Given the description of an element on the screen output the (x, y) to click on. 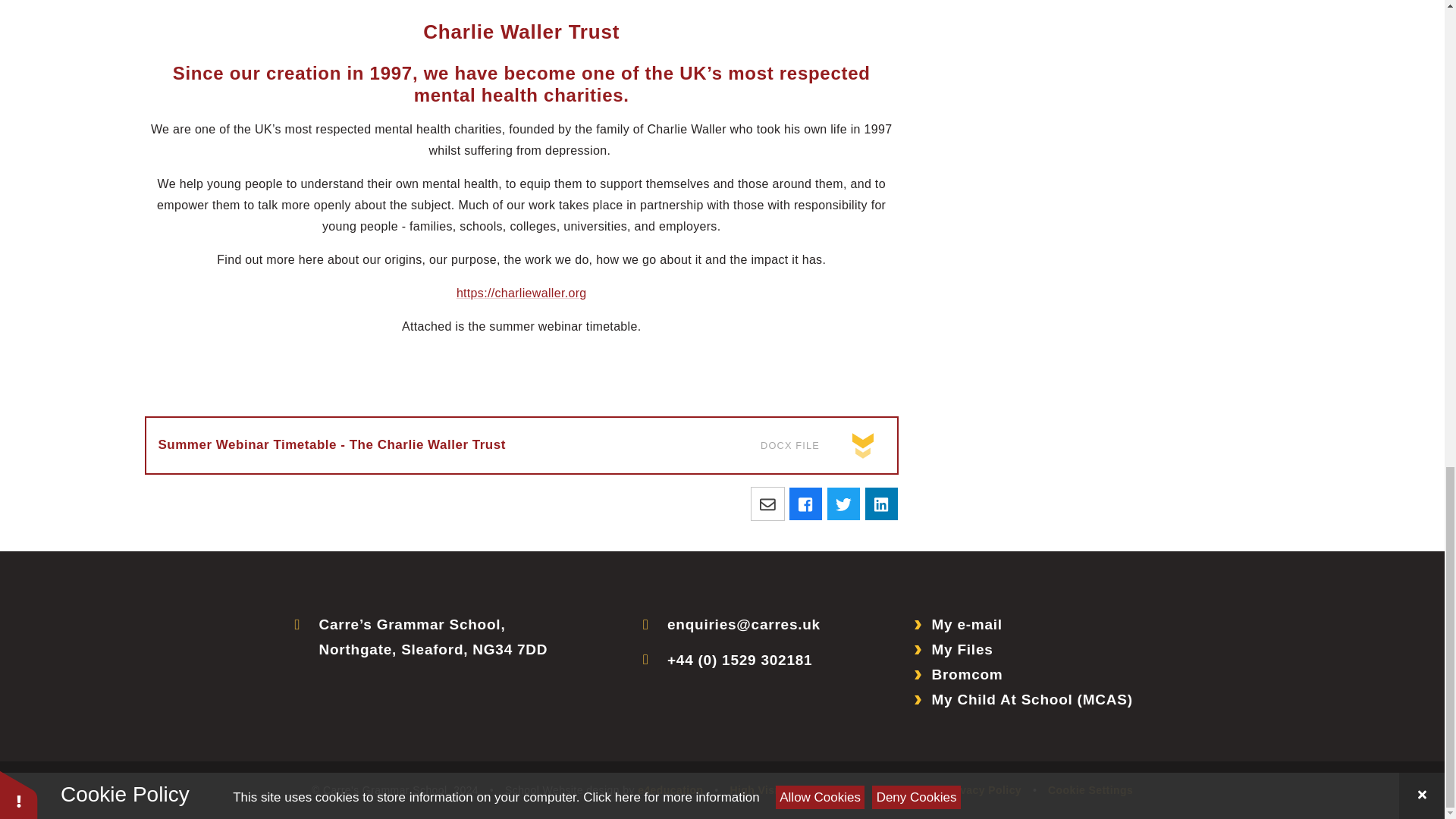
Cookie Settings (1090, 789)
